Given the description of an element on the screen output the (x, y) to click on. 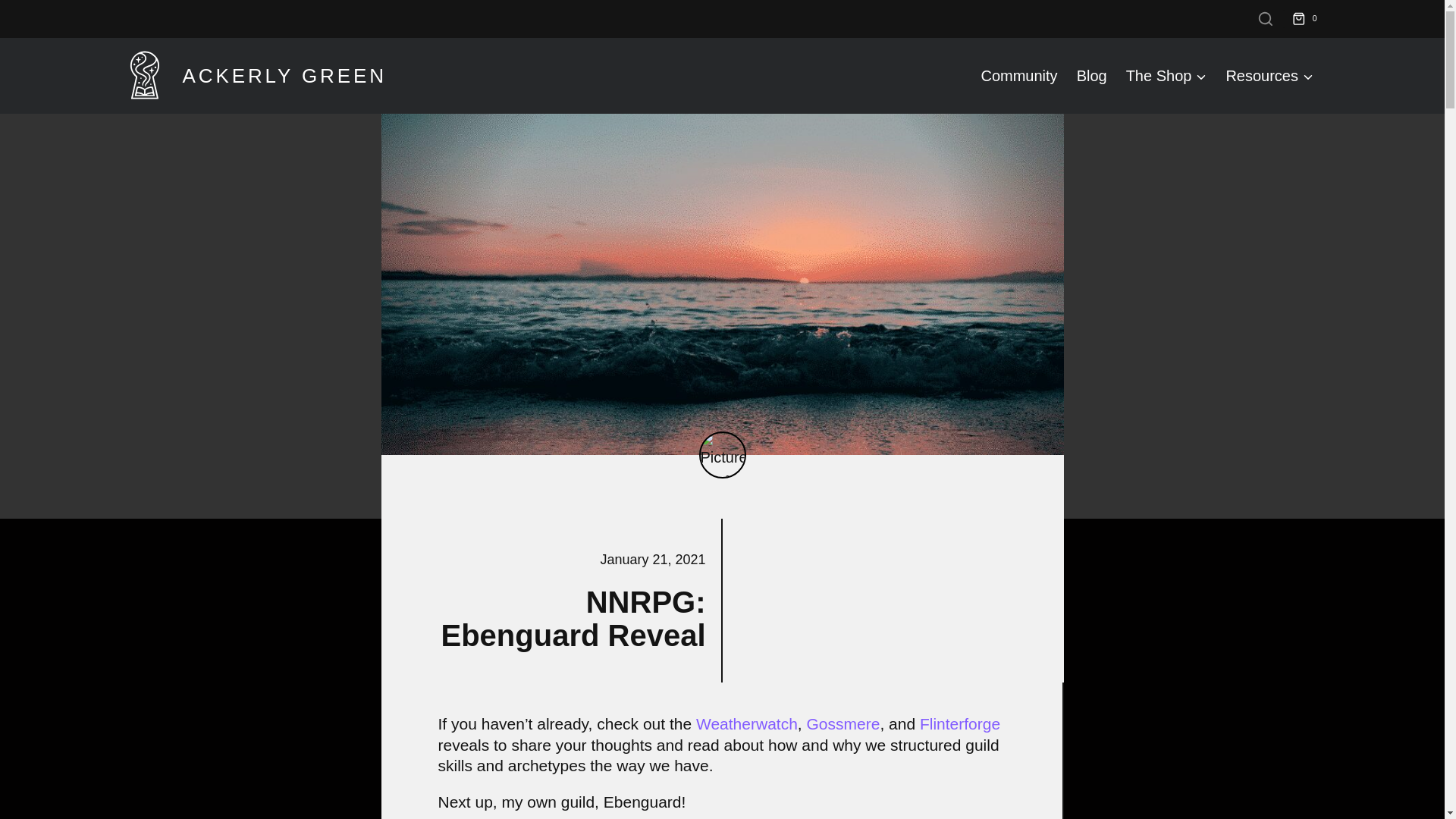
Blog (1091, 75)
Community (1019, 75)
0 (1307, 18)
The Shop (1165, 75)
Resources (1269, 75)
ACKERLY GREEN (252, 76)
